Given the description of an element on the screen output the (x, y) to click on. 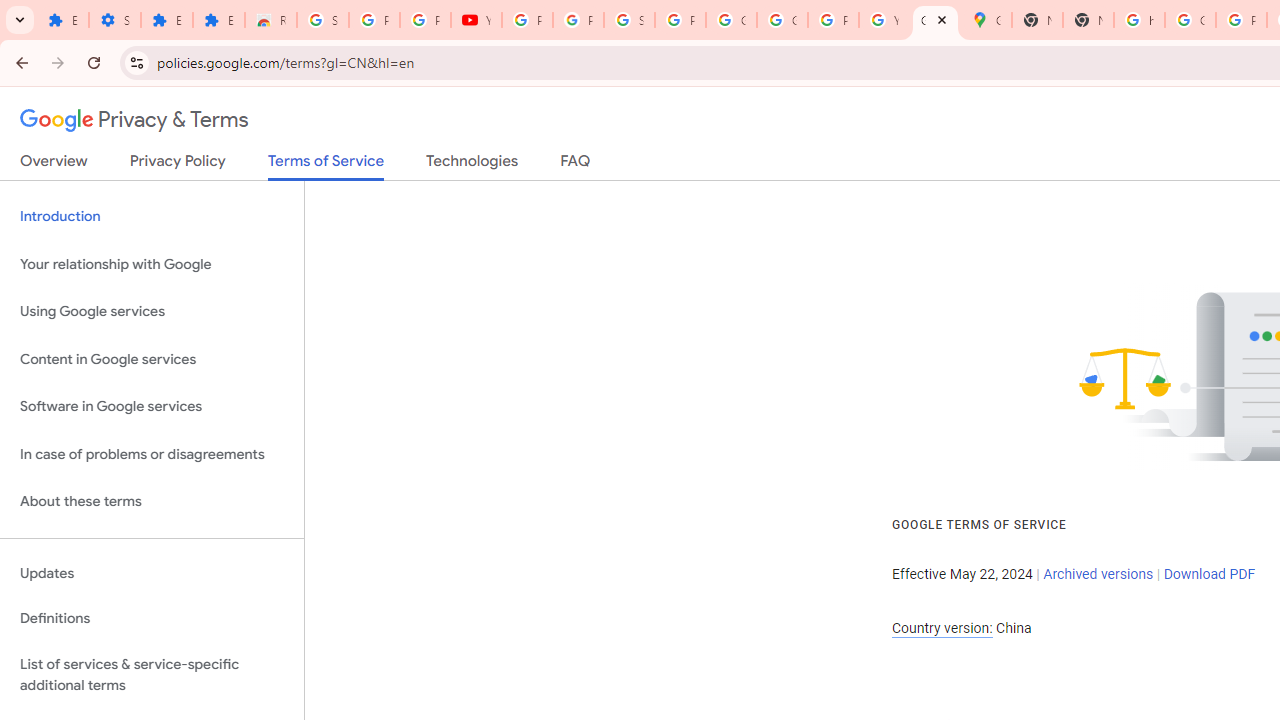
Country version: (942, 628)
New Tab (1087, 20)
Extensions (166, 20)
Extensions (218, 20)
Extensions (63, 20)
